Given the description of an element on the screen output the (x, y) to click on. 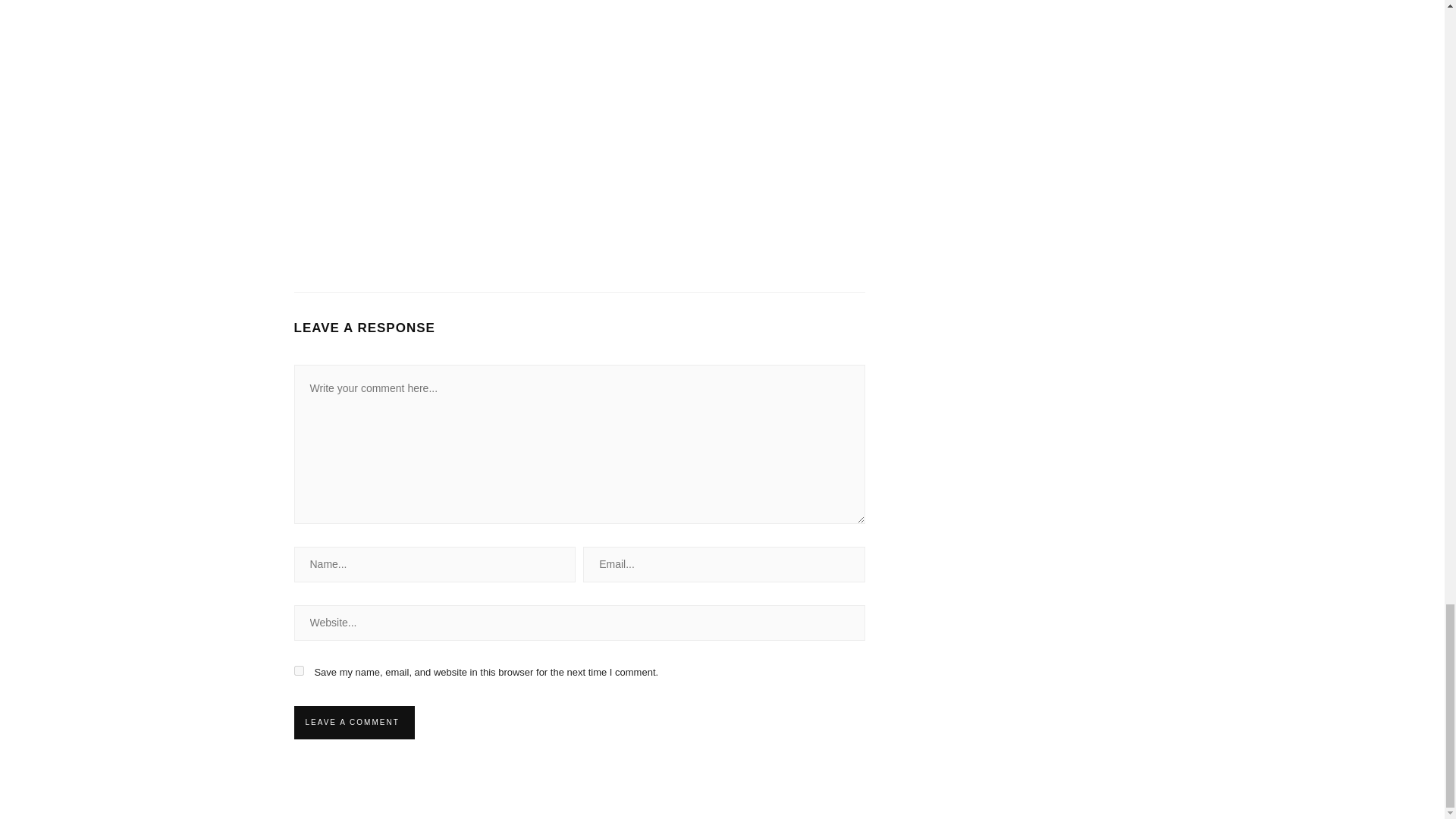
Leave a comment (351, 722)
yes (299, 670)
